Given the description of an element on the screen output the (x, y) to click on. 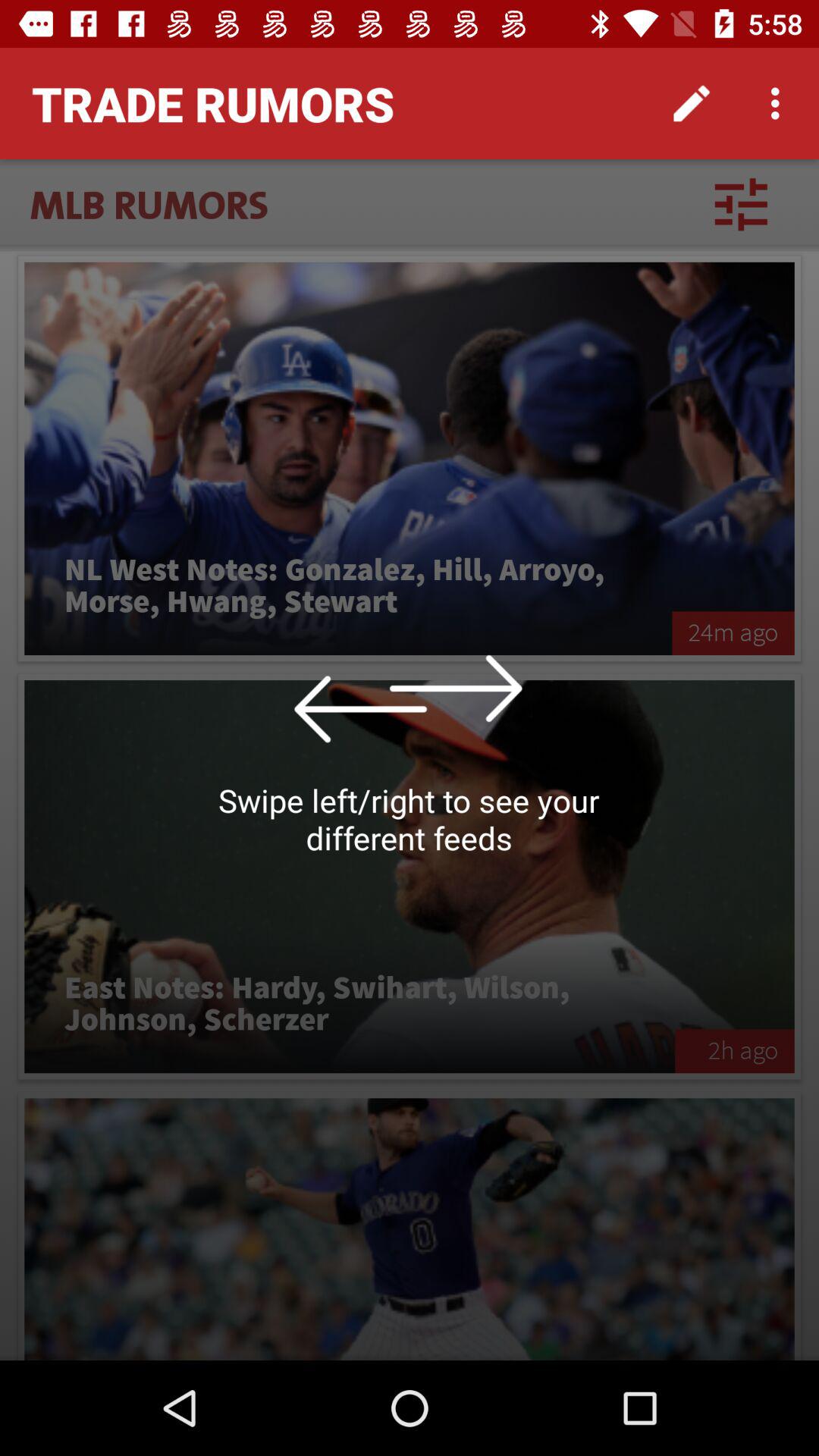
click the item next to the trade rumors item (691, 103)
